Given the description of an element on the screen output the (x, y) to click on. 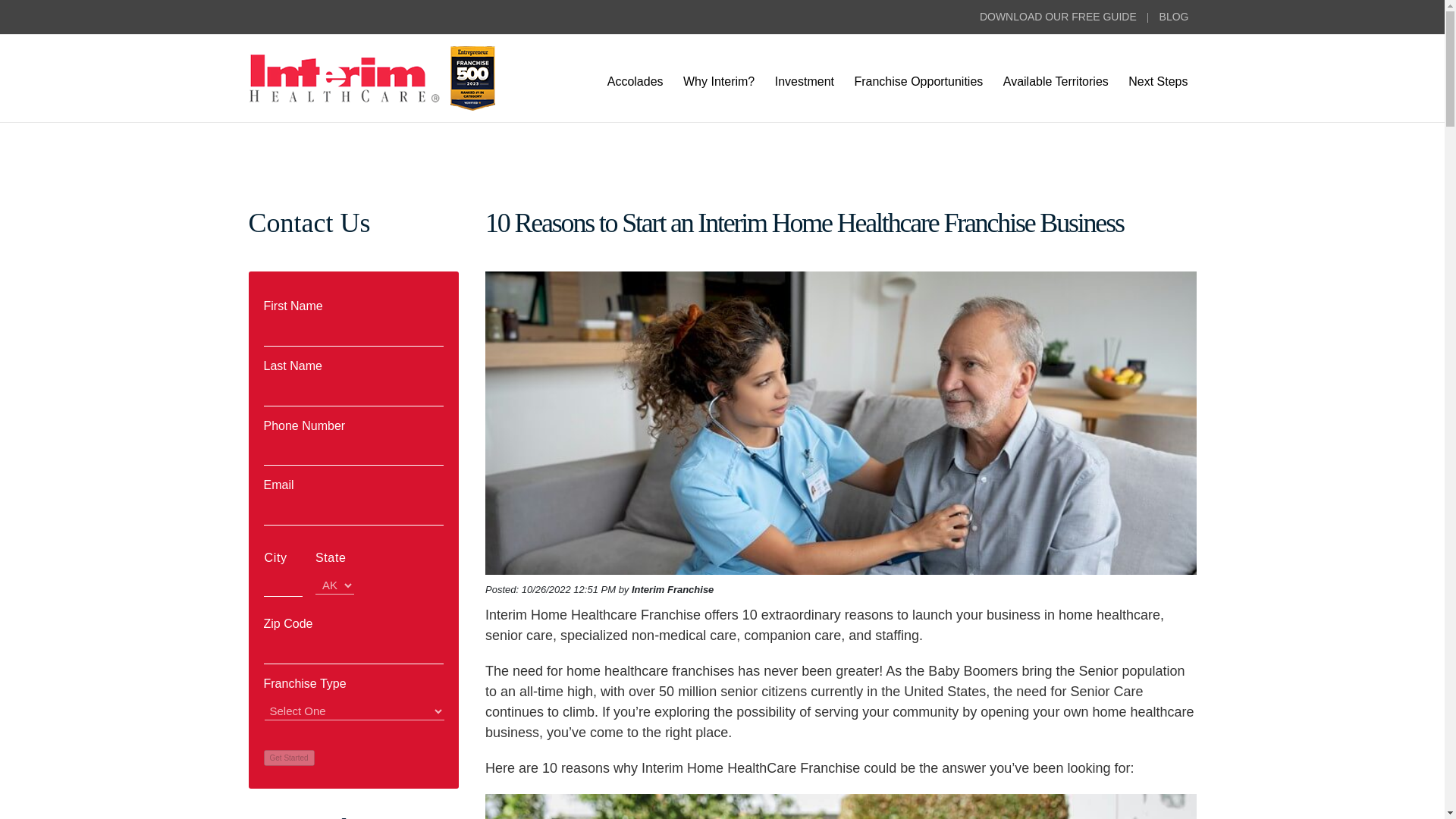
Available Territories (1055, 79)
DOWNLOAD OUR FREE GUIDE (1058, 16)
Investment (805, 79)
Why Interim? (718, 79)
Interim Franchising (373, 77)
Accolades (634, 79)
Next Steps (1157, 79)
Franchise Opportunities (918, 79)
Get Started (288, 757)
Get Started (288, 757)
BLOG (1173, 16)
